Given the description of an element on the screen output the (x, y) to click on. 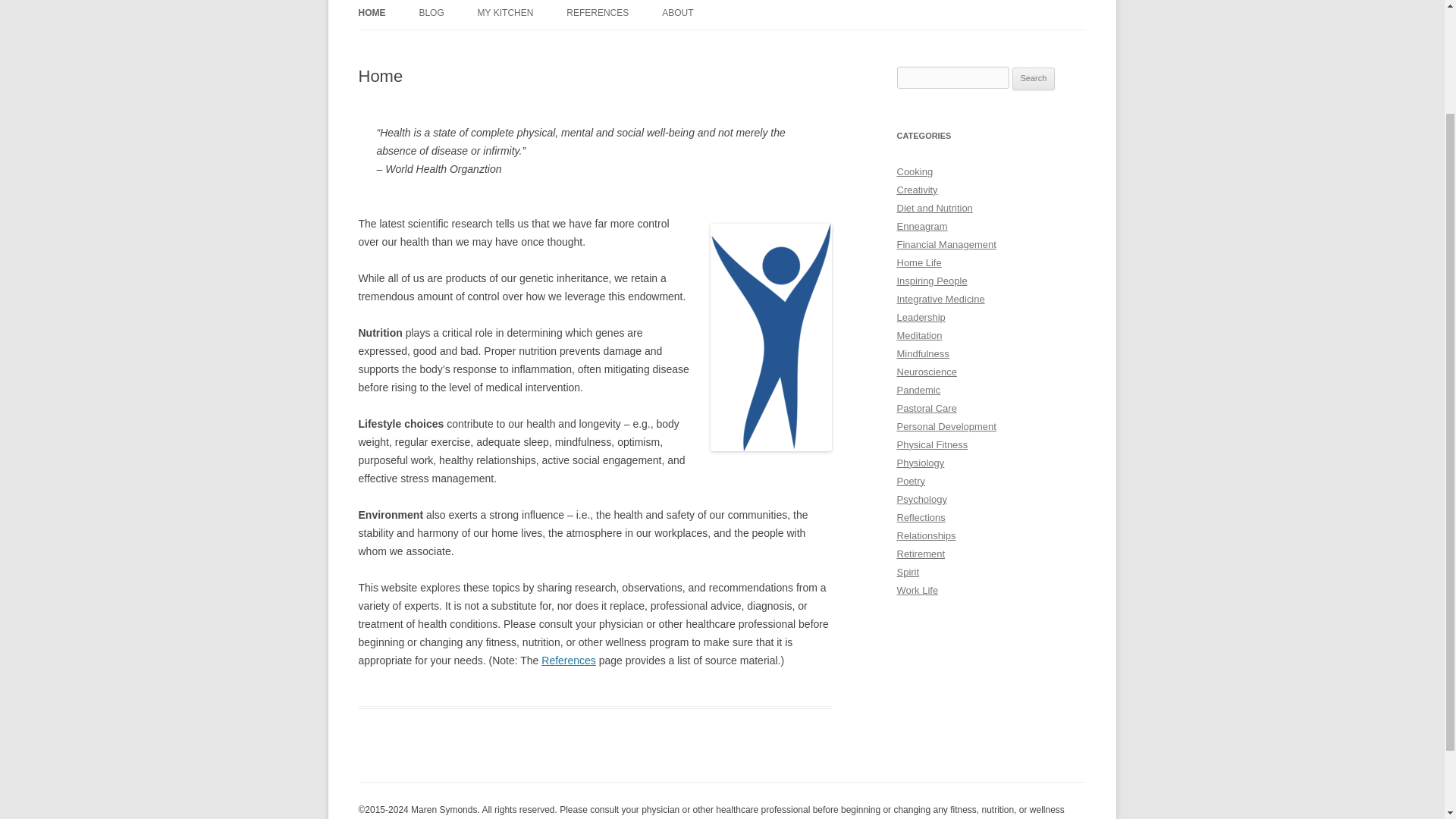
Work Life (916, 590)
Pandemic (918, 389)
Mindfulness (922, 353)
Meditation (919, 335)
Pastoral Care (926, 408)
HOME (371, 14)
Spirit (907, 572)
Poetry (910, 480)
Physical Fitness (932, 444)
Integrative Medicine (940, 298)
